Given the description of an element on the screen output the (x, y) to click on. 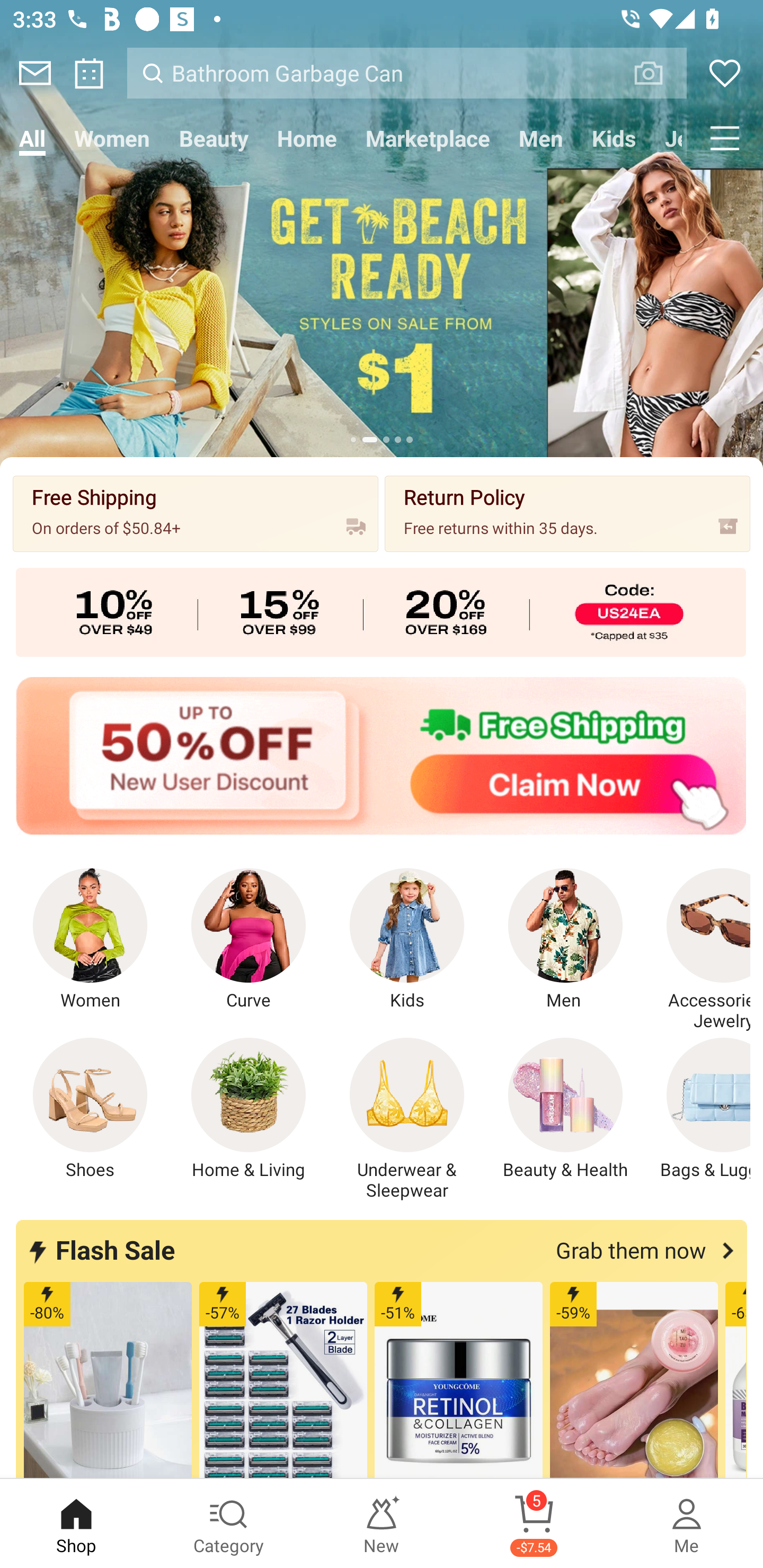
Wishlist (724, 72)
VISUAL SEARCH (657, 72)
All (31, 137)
Women (111, 137)
Beauty (213, 137)
Home (306, 137)
Marketplace (427, 137)
Men (540, 137)
Kids (613, 137)
Free Shipping On orders of $50.84+ (195, 513)
Return Policy Free returns within 35 days. (567, 513)
Women (89, 939)
Curve (248, 939)
Kids (406, 939)
Men  (565, 939)
Accessories & Jewelry (698, 949)
Shoes (89, 1109)
Home & Living (248, 1109)
Underwear & Sleepwear (406, 1119)
Beauty & Health (565, 1109)
Bags & Luggage (698, 1109)
Category (228, 1523)
New (381, 1523)
Cart 5 -$7.54 (533, 1523)
Me (686, 1523)
